Given the description of an element on the screen output the (x, y) to click on. 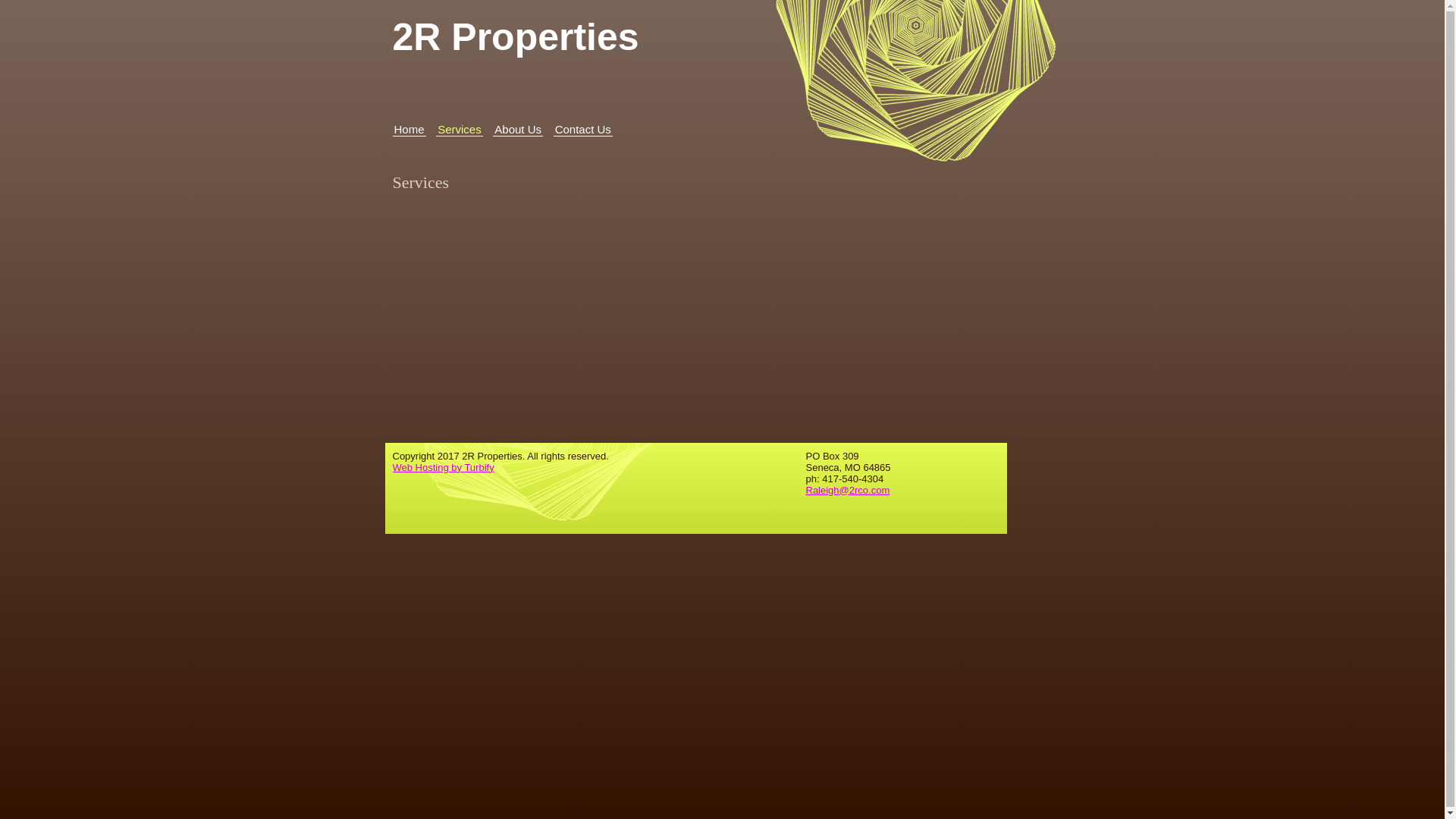
Home Element type: text (409, 129)
About Us Element type: text (517, 129)
Services Element type: text (459, 129)
Web Hosting by Turbify Element type: text (443, 466)
Raleigh@2rco.com Element type: text (847, 489)
Contact Us Element type: text (582, 129)
